Given the description of an element on the screen output the (x, y) to click on. 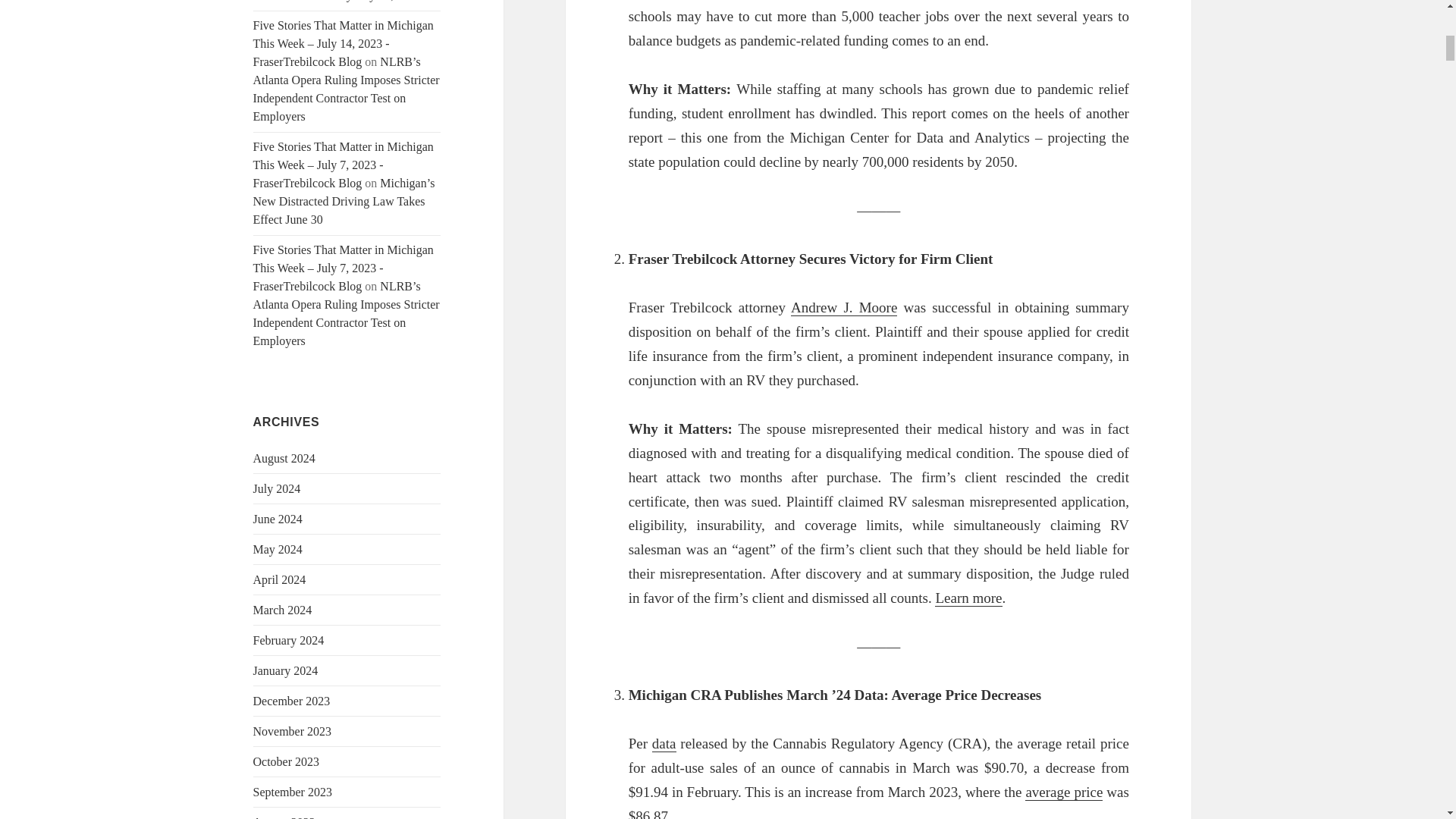
December 2023 (291, 700)
March 2024 (283, 609)
January 2024 (285, 670)
September 2023 (292, 791)
April 2024 (279, 579)
May 2024 (277, 549)
July 2024 (277, 488)
November 2023 (292, 730)
August 2024 (284, 458)
February 2024 (288, 640)
